Given the description of an element on the screen output the (x, y) to click on. 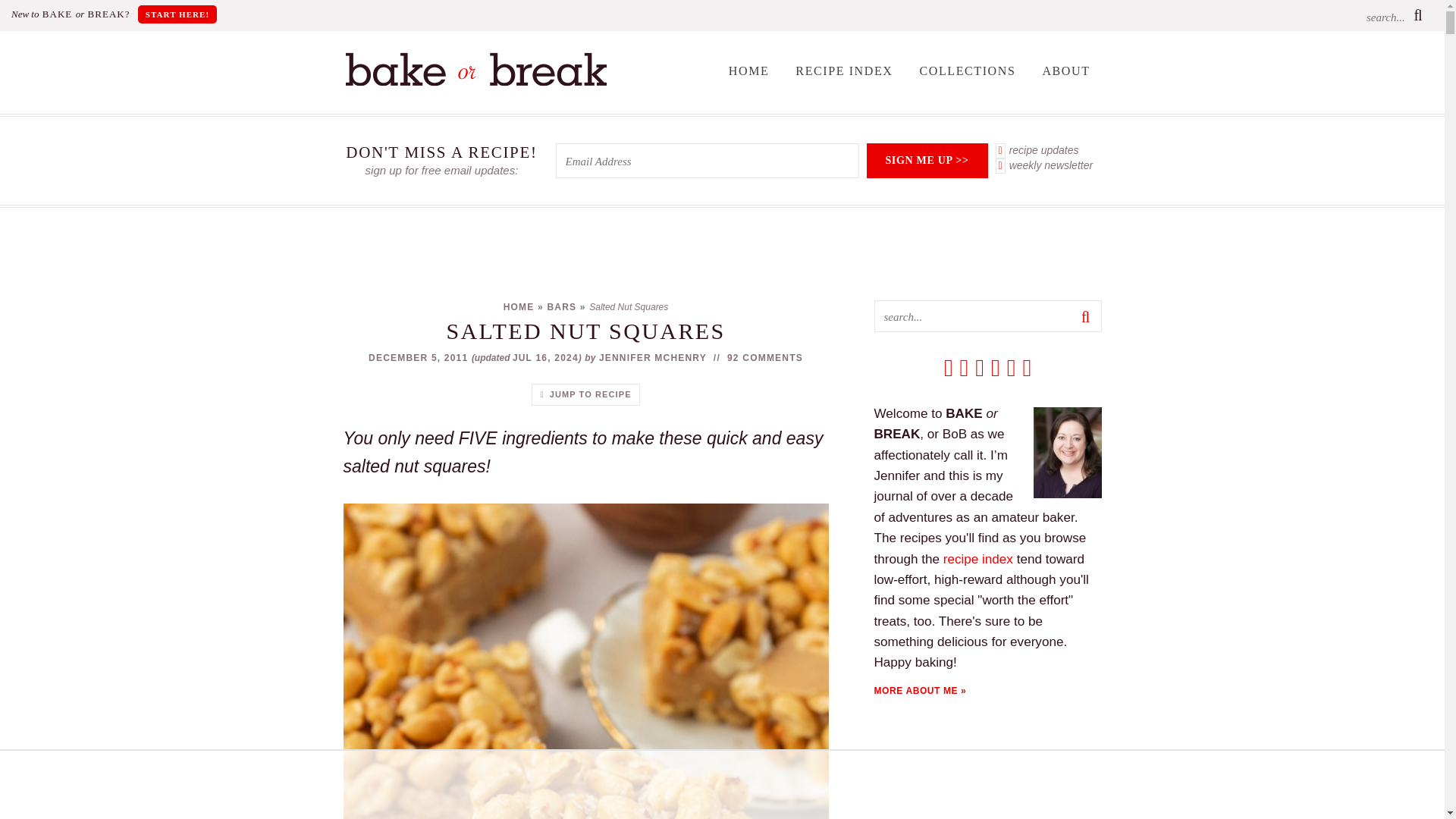
ABOUT (1065, 70)
92 COMMENTS (764, 357)
Bake or Break (475, 82)
JUMP TO RECIPE (585, 395)
HOME (748, 70)
HOME (518, 307)
BARS (561, 307)
RECIPE INDEX (844, 70)
START HERE! (177, 13)
JENNIFER MCHENRY (652, 357)
